Given the description of an element on the screen output the (x, y) to click on. 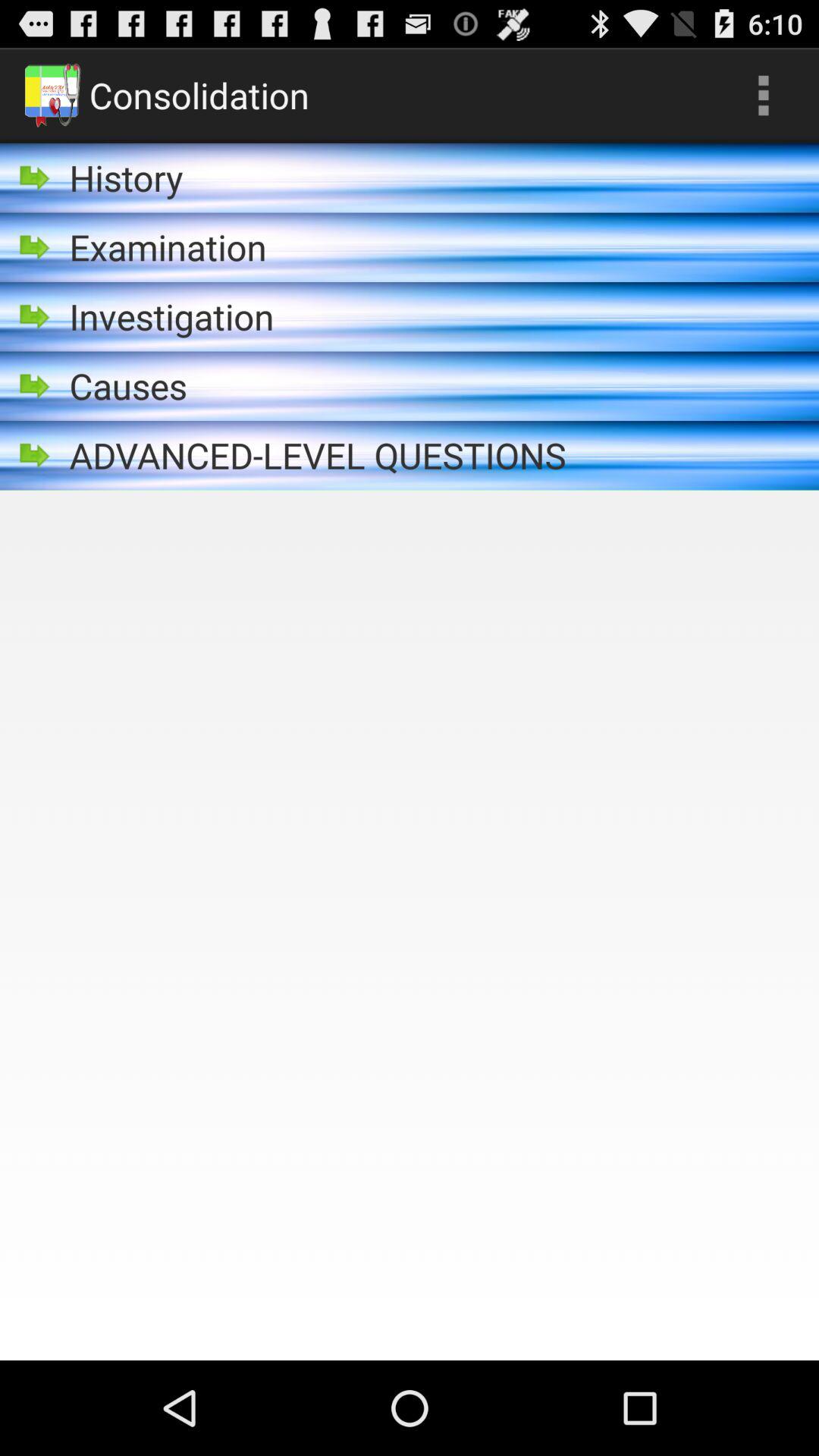
turn off the icon at the top right corner (763, 95)
